Given the description of an element on the screen output the (x, y) to click on. 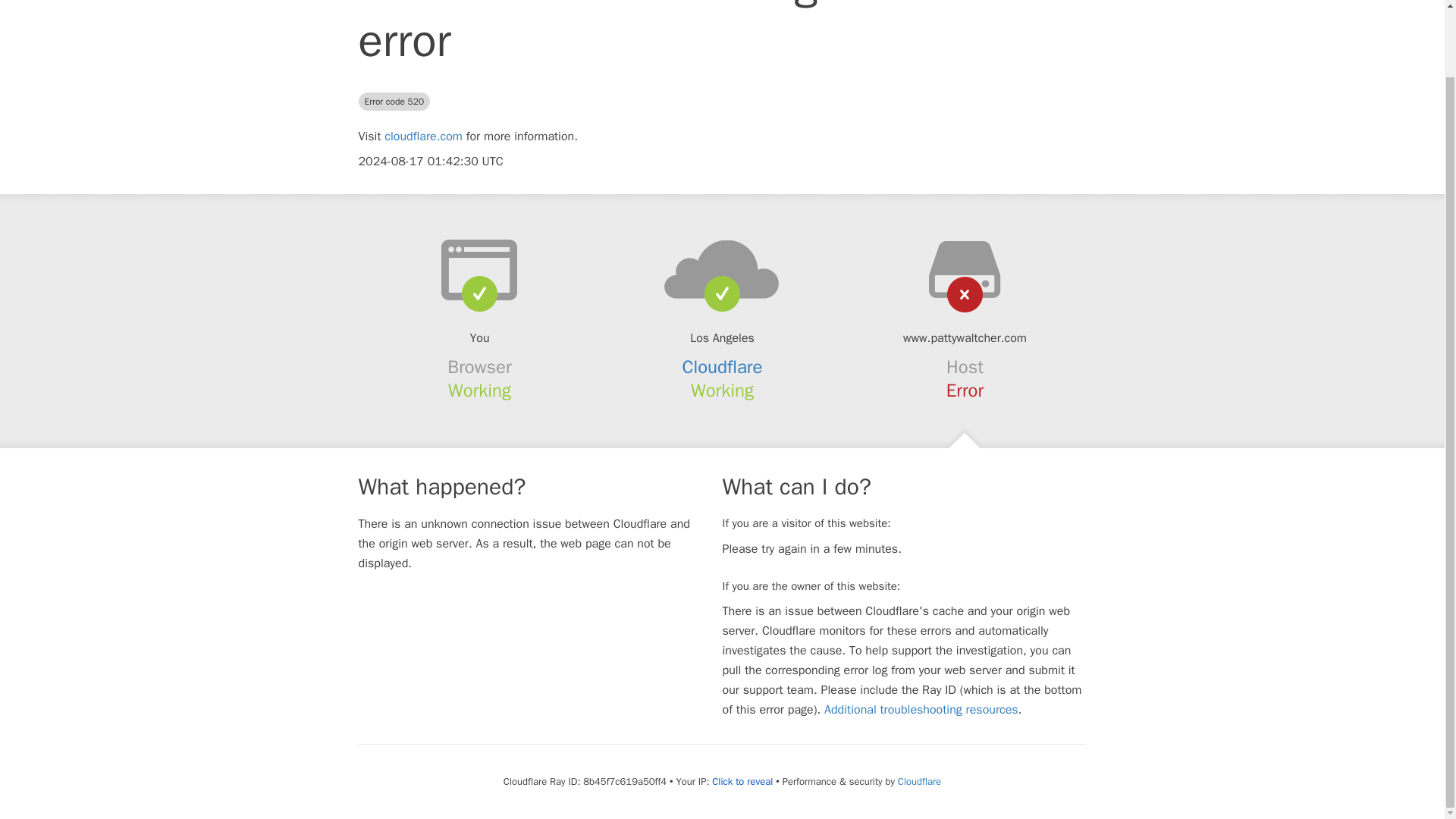
Cloudflare (919, 780)
Additional troubleshooting resources (920, 709)
cloudflare.com (423, 136)
Cloudflare (722, 366)
Click to reveal (742, 781)
